Given the description of an element on the screen output the (x, y) to click on. 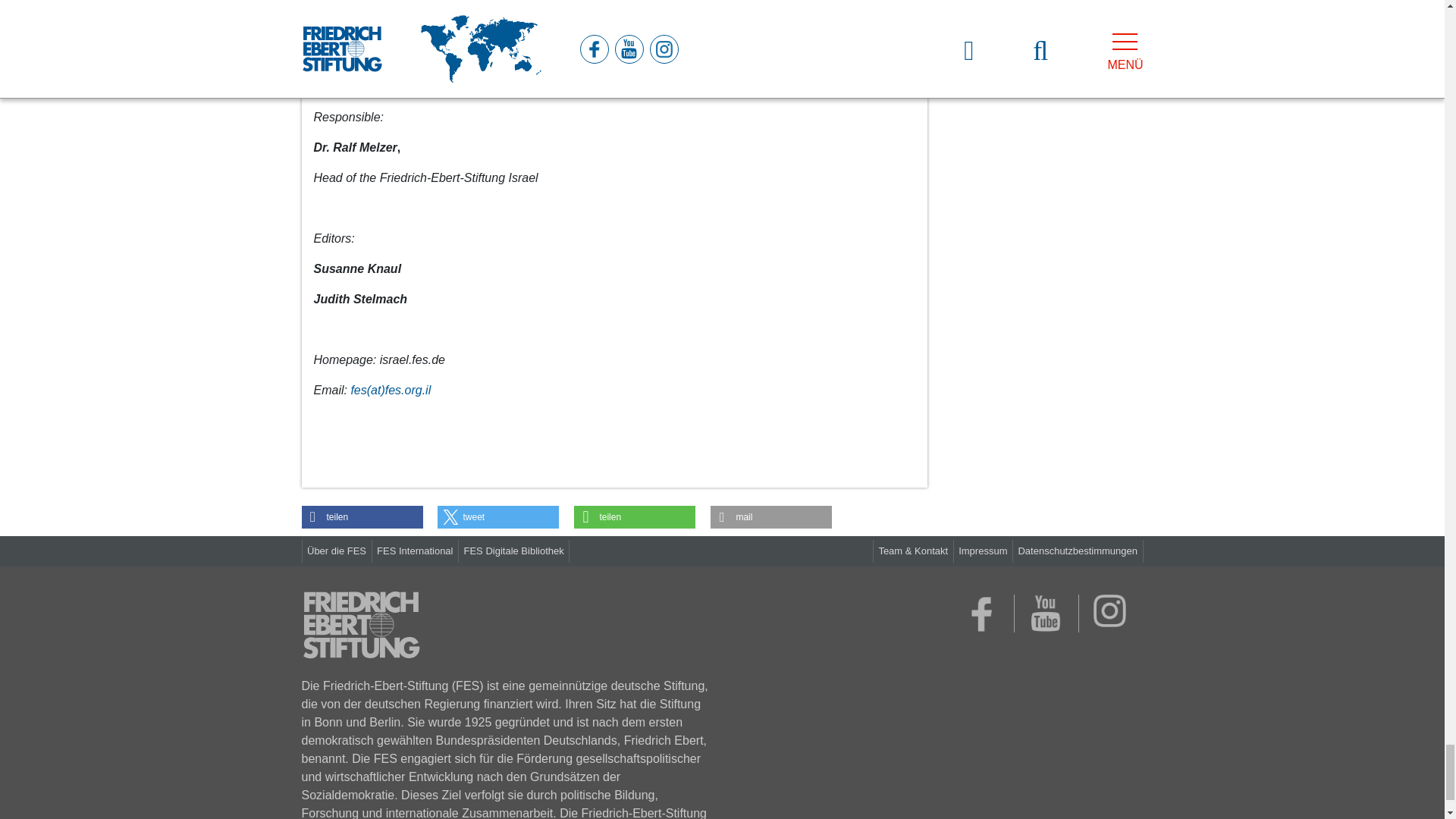
Per E-Mail versenden (770, 517)
Bei Whatsapp teilen (634, 517)
Bei Twitter teilen (498, 517)
Bei Facebook teilen (362, 517)
